Given the description of an element on the screen output the (x, y) to click on. 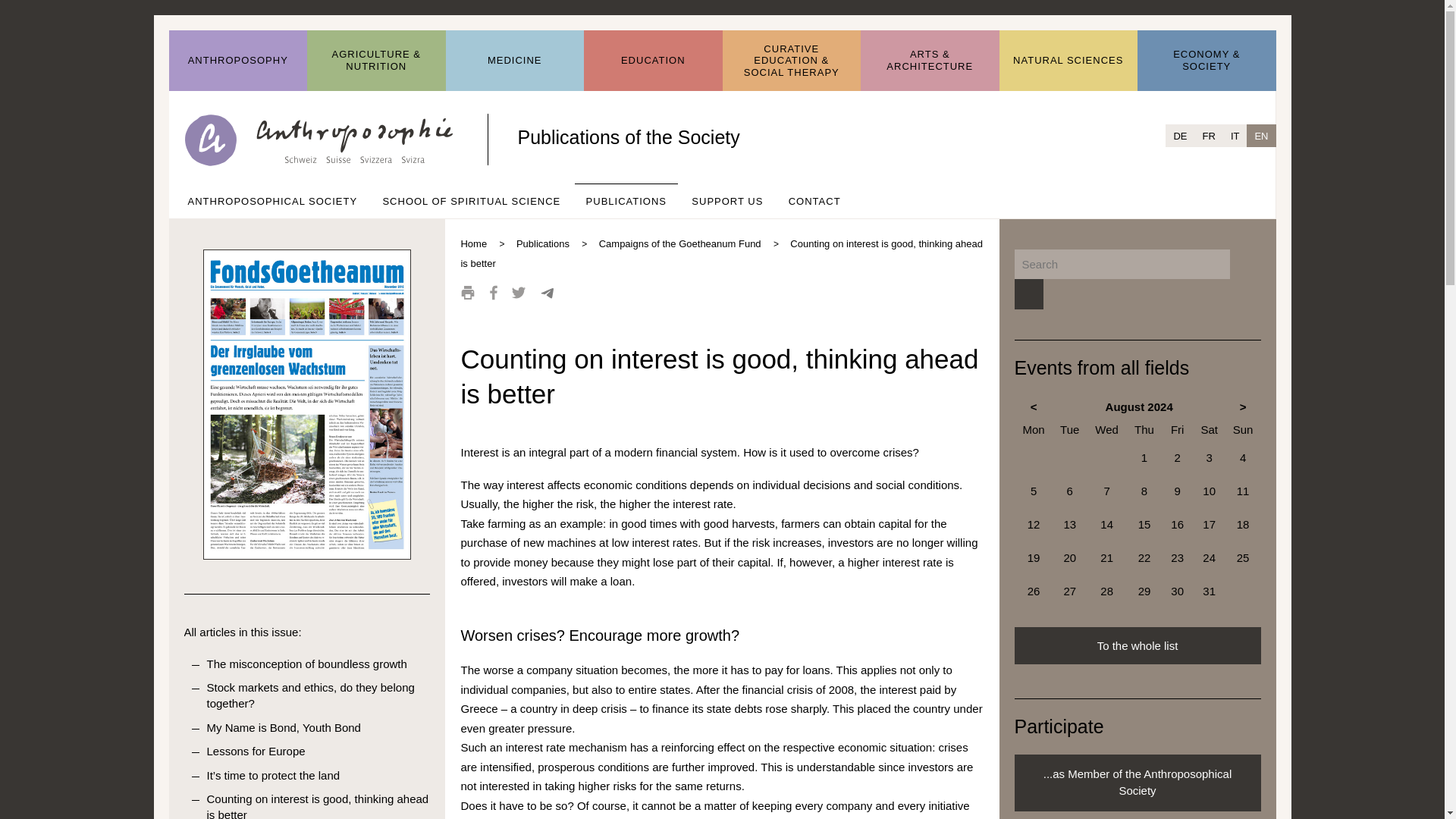
Search (1028, 294)
MEDICINE (515, 60)
EDUCATION (652, 60)
ANTHROPOSOPHY (237, 60)
